Given the description of an element on the screen output the (x, y) to click on. 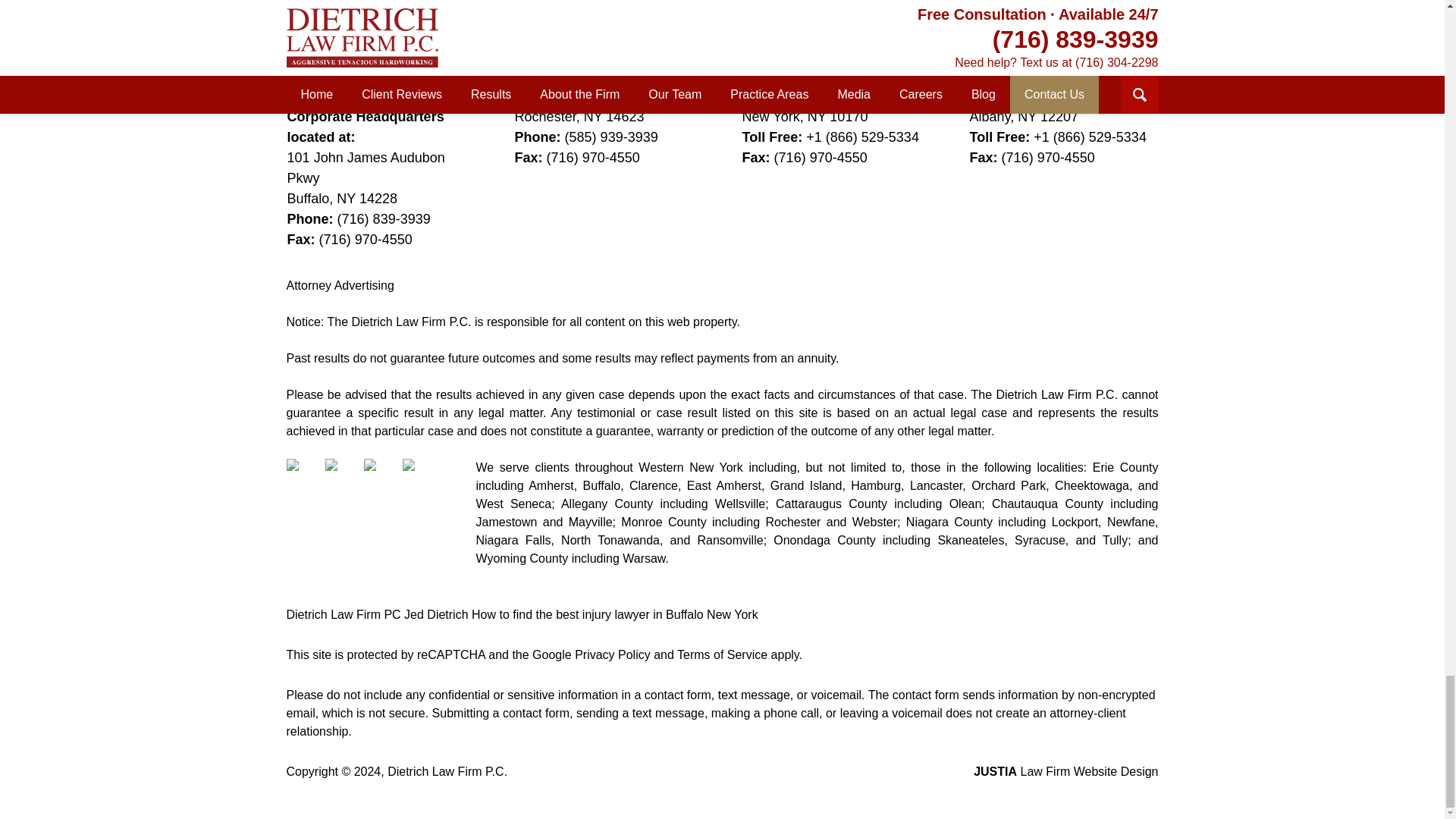
Facebook (303, 475)
LinkedIn (381, 475)
Twitter (341, 475)
Justia (420, 475)
